Given the description of an element on the screen output the (x, y) to click on. 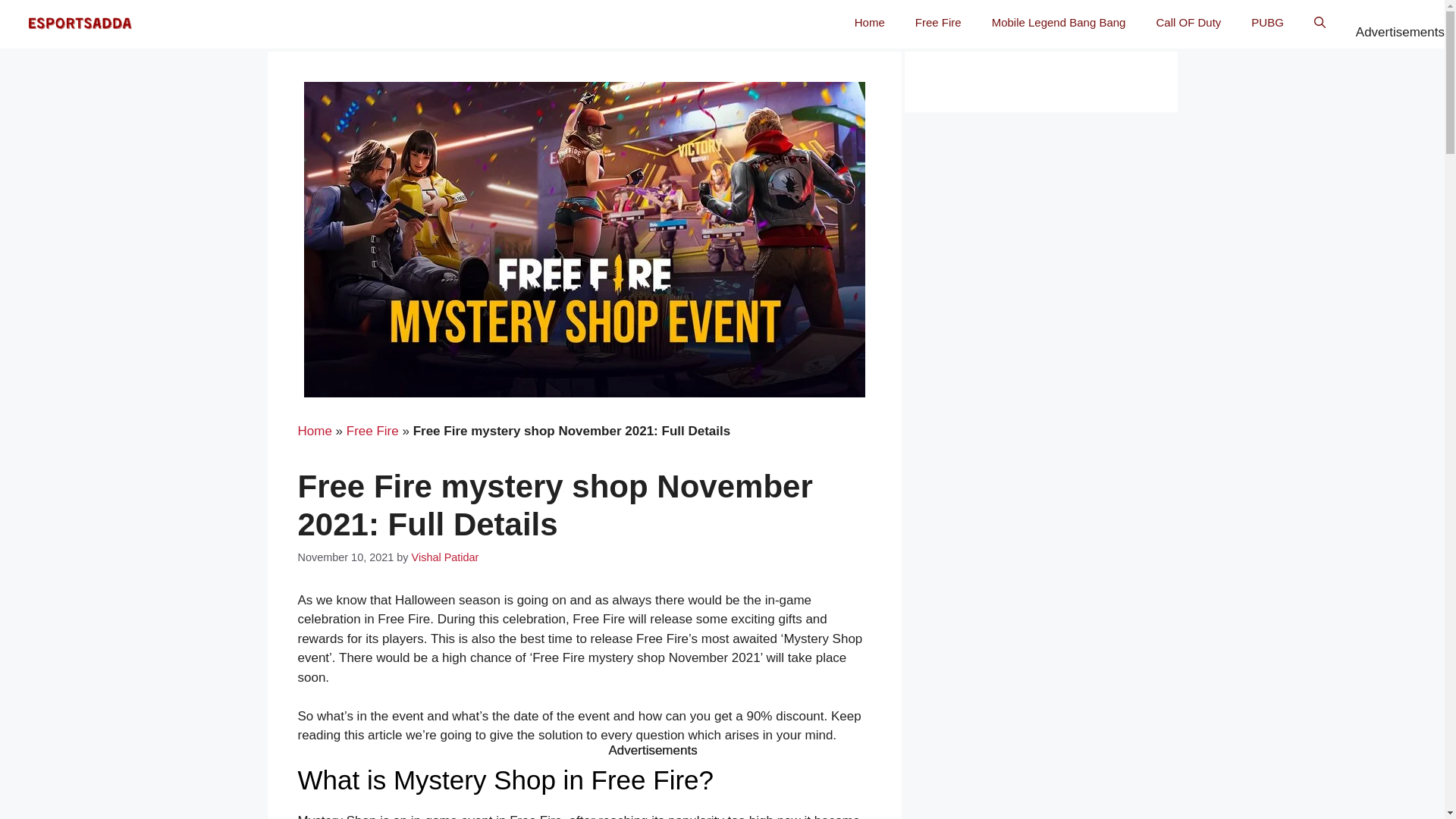
Vishal Patidar (445, 557)
Mobile Legend Bang Bang (1058, 22)
Free Fire (372, 431)
Call OF Duty (1188, 22)
View all posts by Vishal Patidar (445, 557)
Home (869, 22)
Advertisement (721, 786)
Free Fire (937, 22)
PUBG (1267, 22)
Home (314, 431)
